Given the description of an element on the screen output the (x, y) to click on. 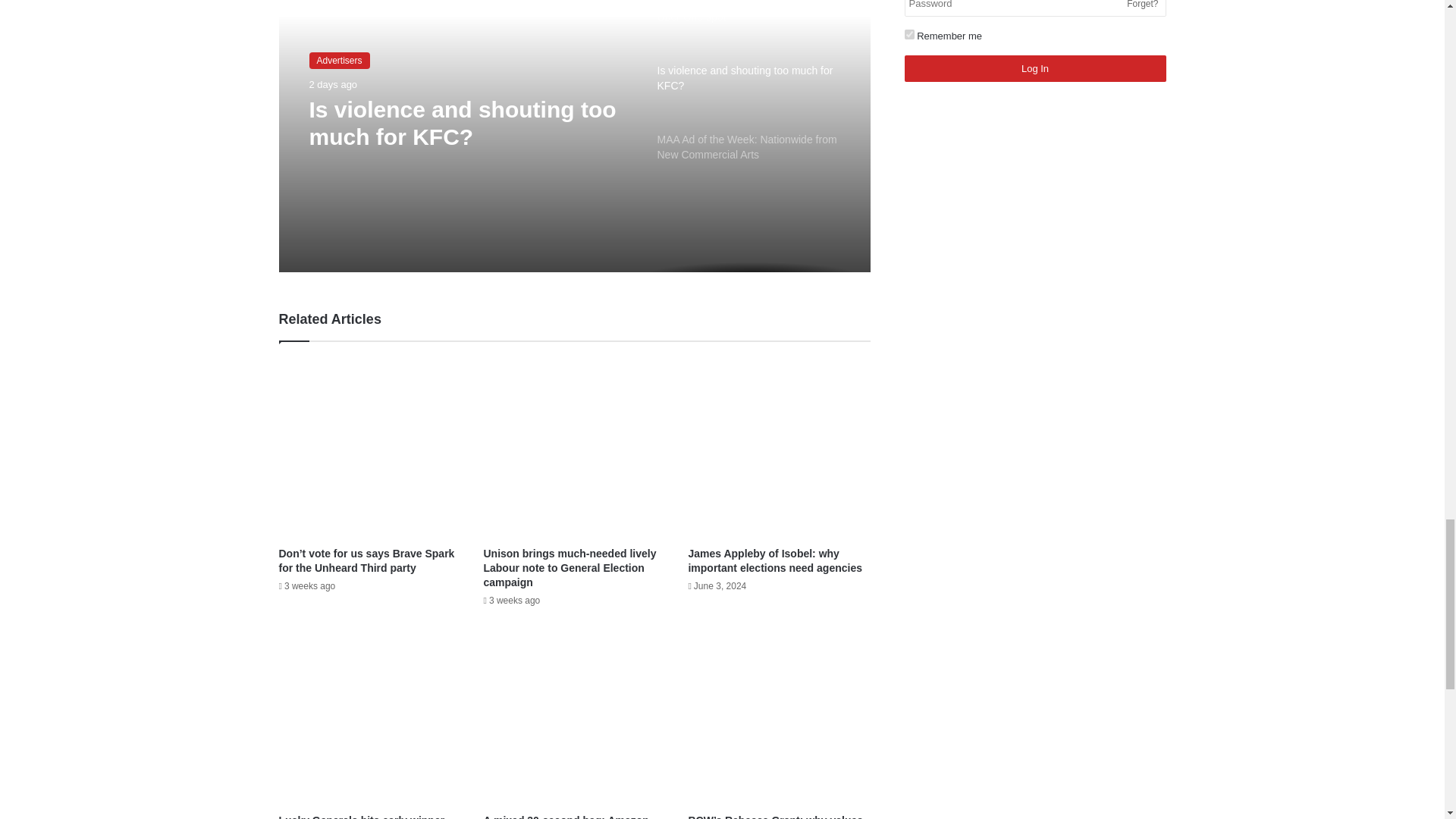
Password (1035, 8)
forever (909, 34)
